Given the description of an element on the screen output the (x, y) to click on. 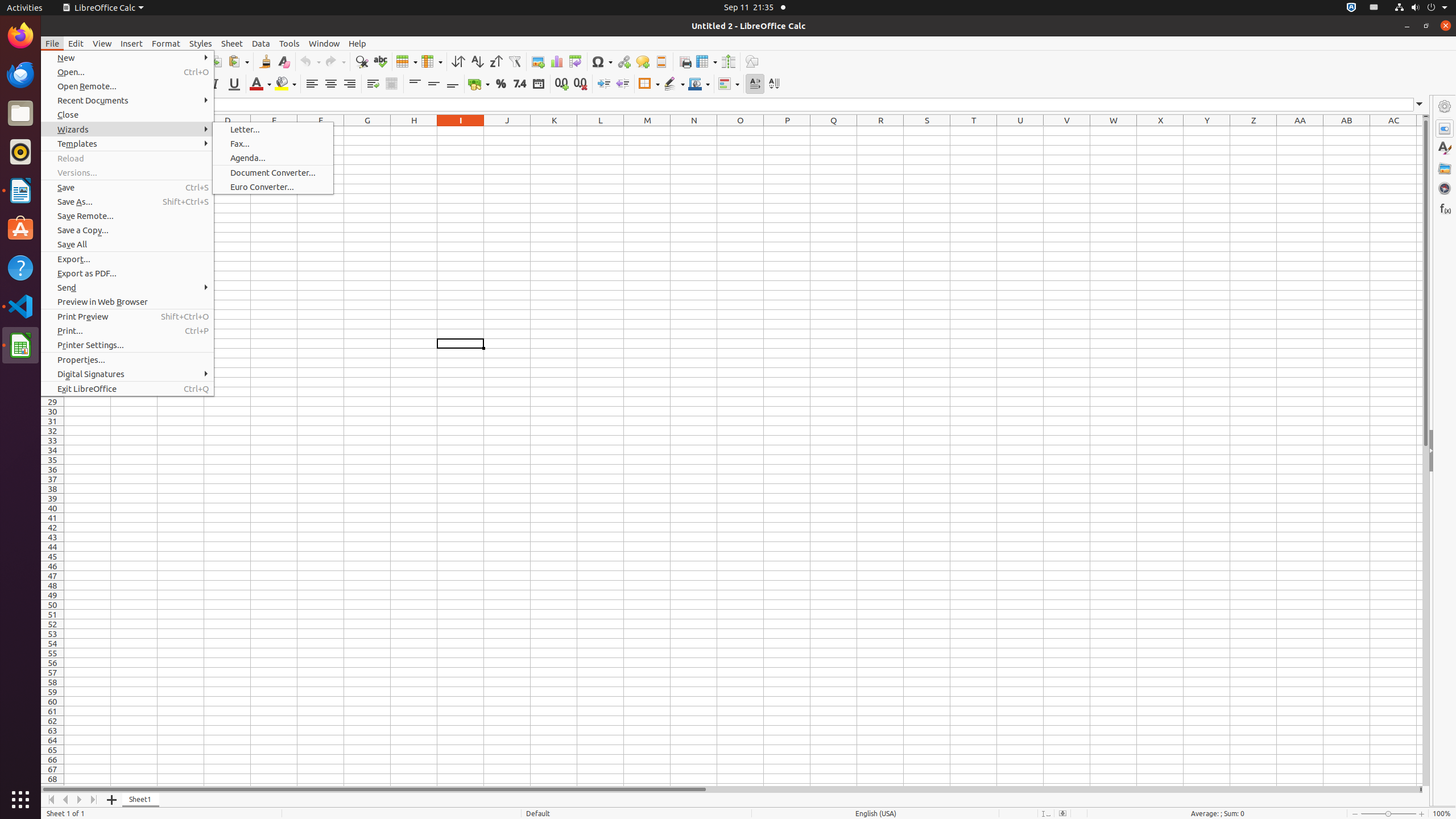
W1 Element type: table-cell (1113, 130)
G1 Element type: table-cell (367, 130)
K1 Element type: table-cell (553, 130)
Window Element type: menu (324, 43)
O1 Element type: table-cell (740, 130)
